Given the description of an element on the screen output the (x, y) to click on. 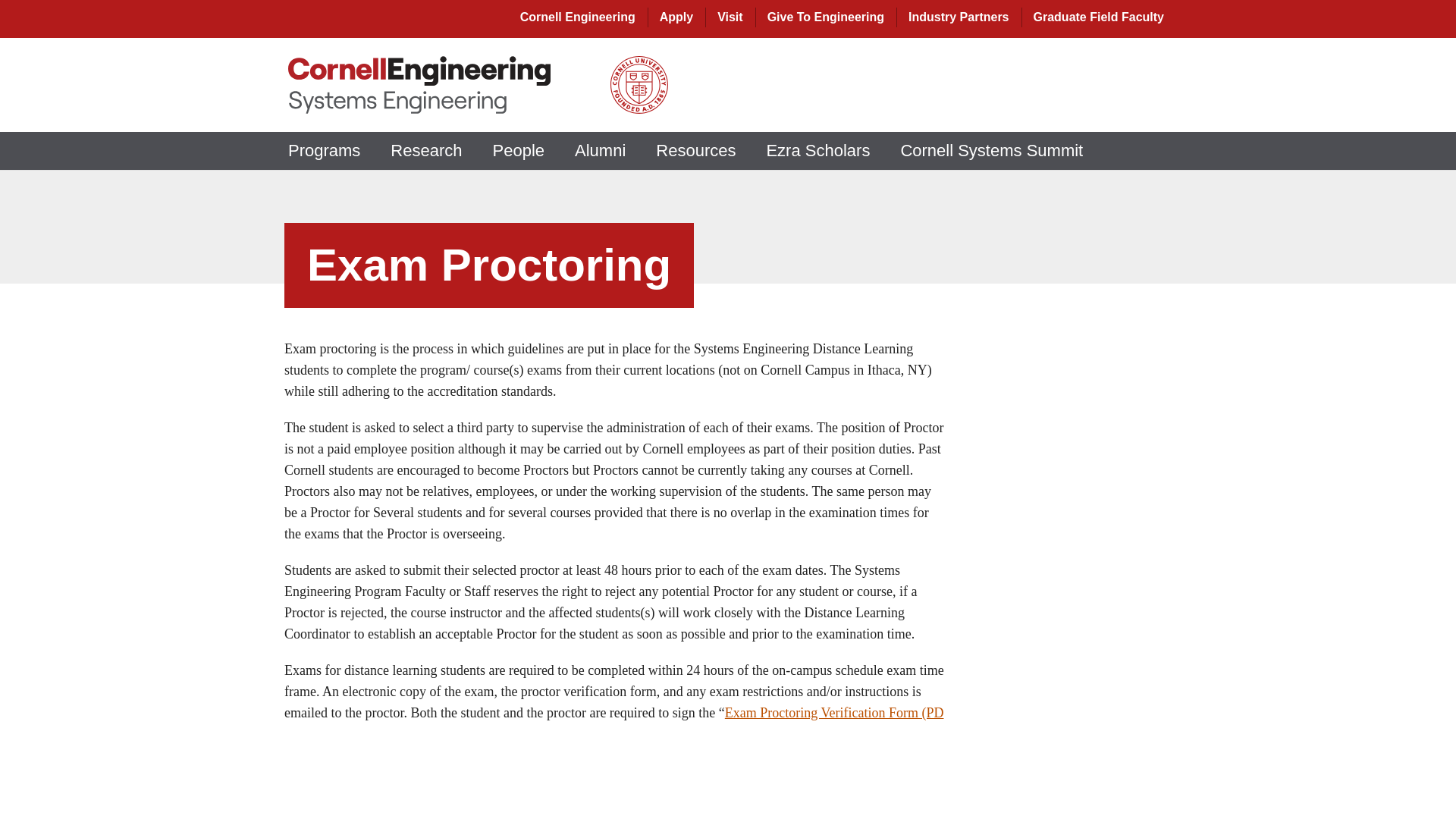
Resources (695, 150)
Cornell Engineering (577, 17)
Visit (730, 17)
Programs (324, 150)
Graduate Field Faculty (1099, 17)
Industry Partners (958, 17)
Research (426, 150)
Give To Engineering (825, 17)
Apply (676, 17)
Alumni (599, 150)
